Given the description of an element on the screen output the (x, y) to click on. 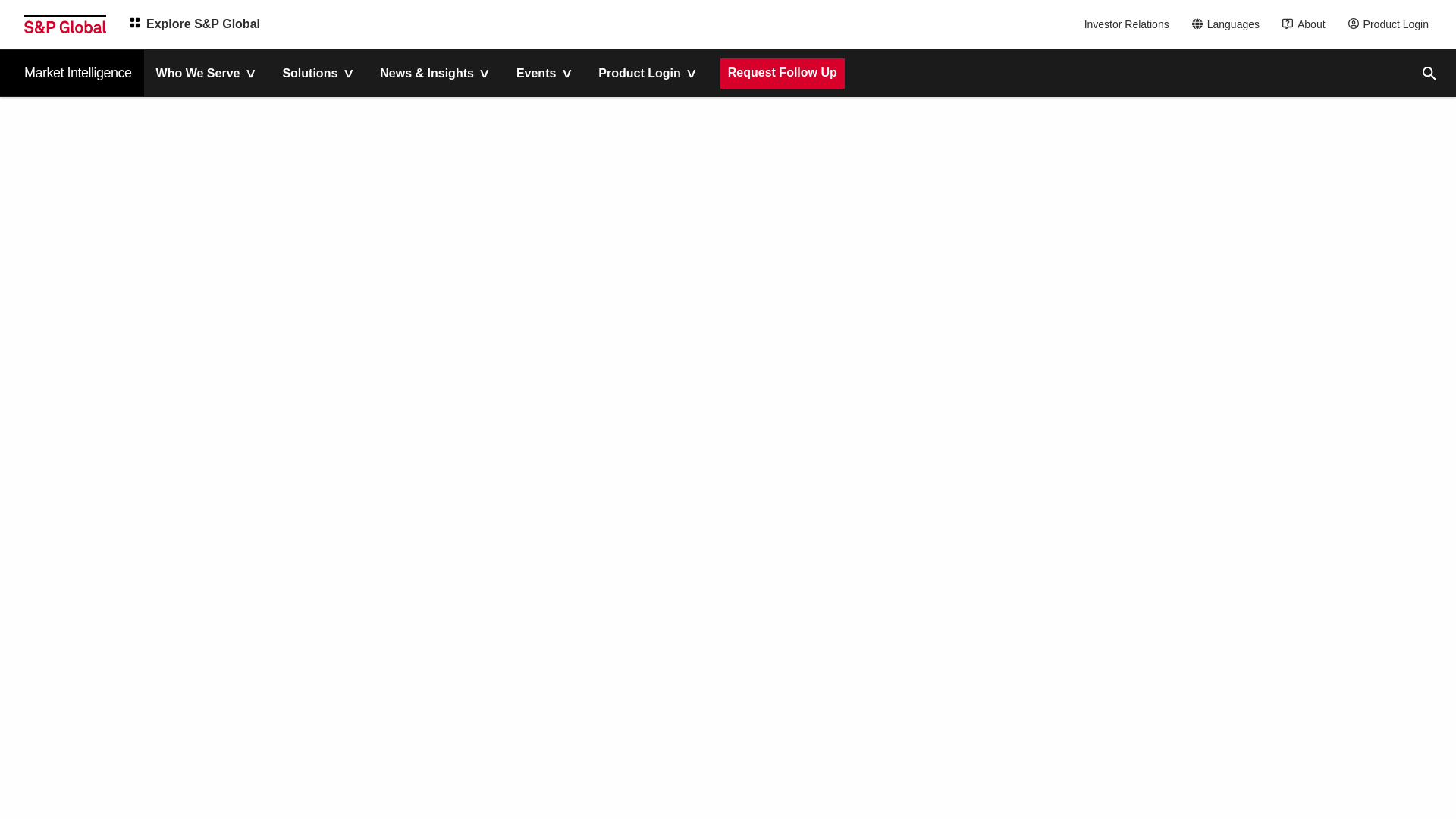
Languages (1230, 24)
About (1307, 24)
Product Login (1392, 24)
Investor Relations (1129, 24)
